Given the description of an element on the screen output the (x, y) to click on. 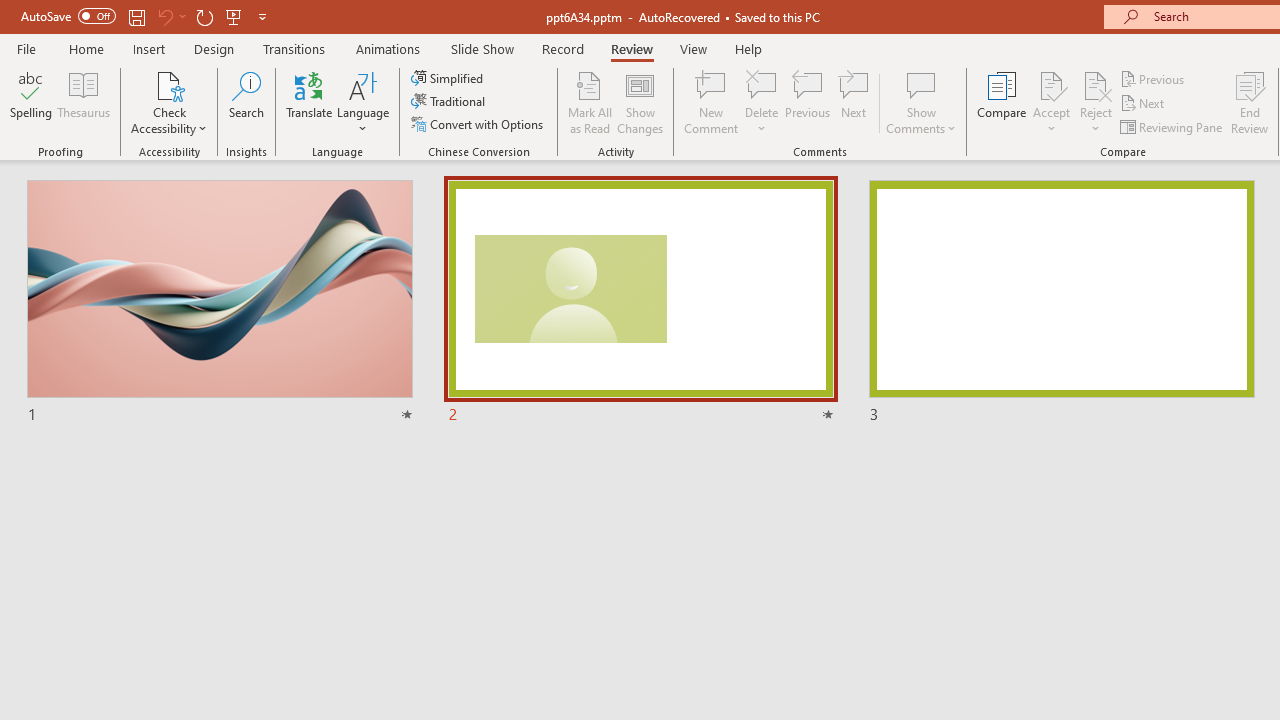
Reviewing Pane (1172, 126)
Accept Change (1051, 84)
Simplified (449, 78)
